Given the description of an element on the screen output the (x, y) to click on. 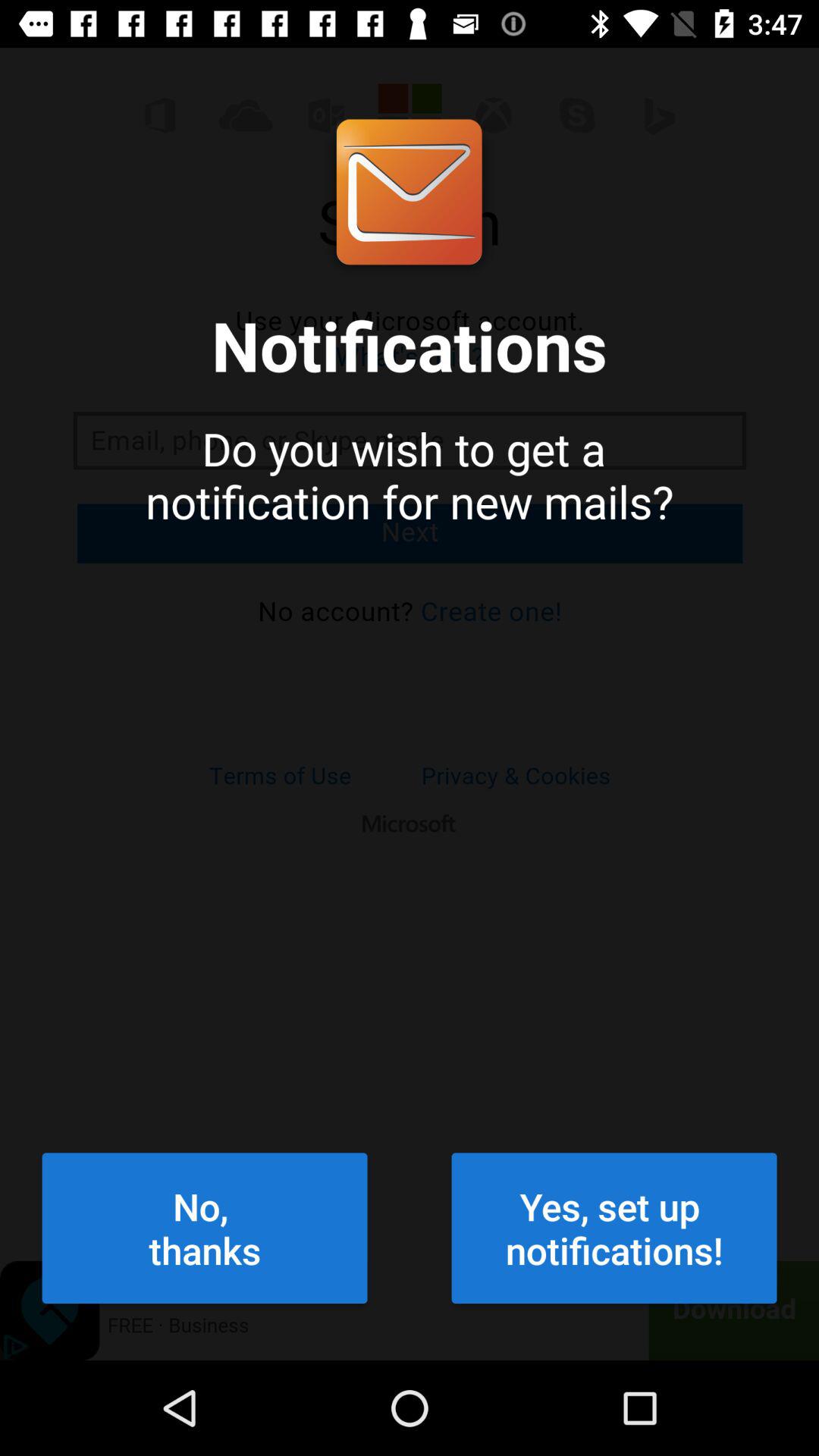
press app below do you wish icon (204, 1227)
